Given the description of an element on the screen output the (x, y) to click on. 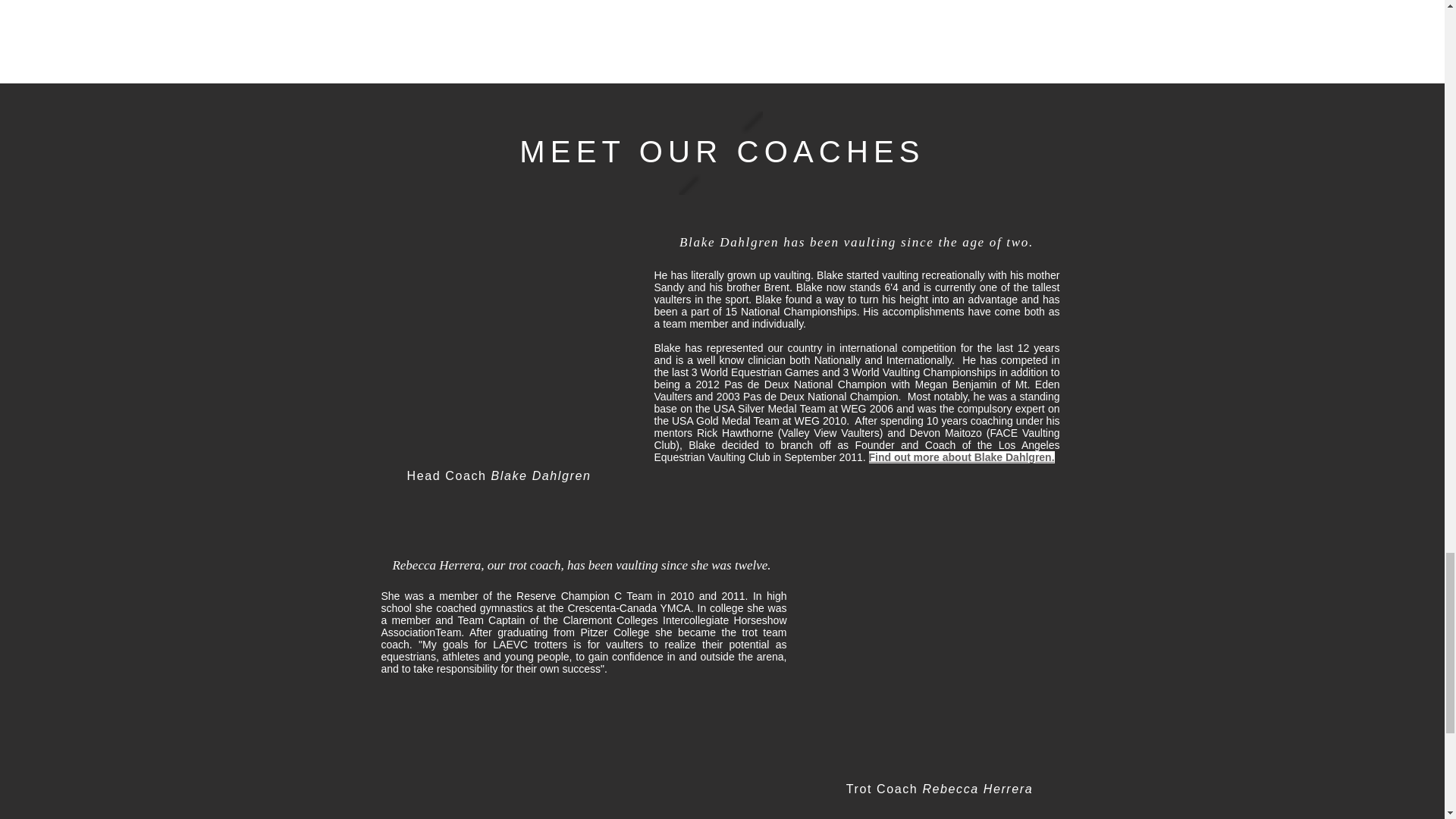
Find out more about Blake Dahlgren. (961, 457)
Shape-1-copy-2.png (719, 152)
